Given the description of an element on the screen output the (x, y) to click on. 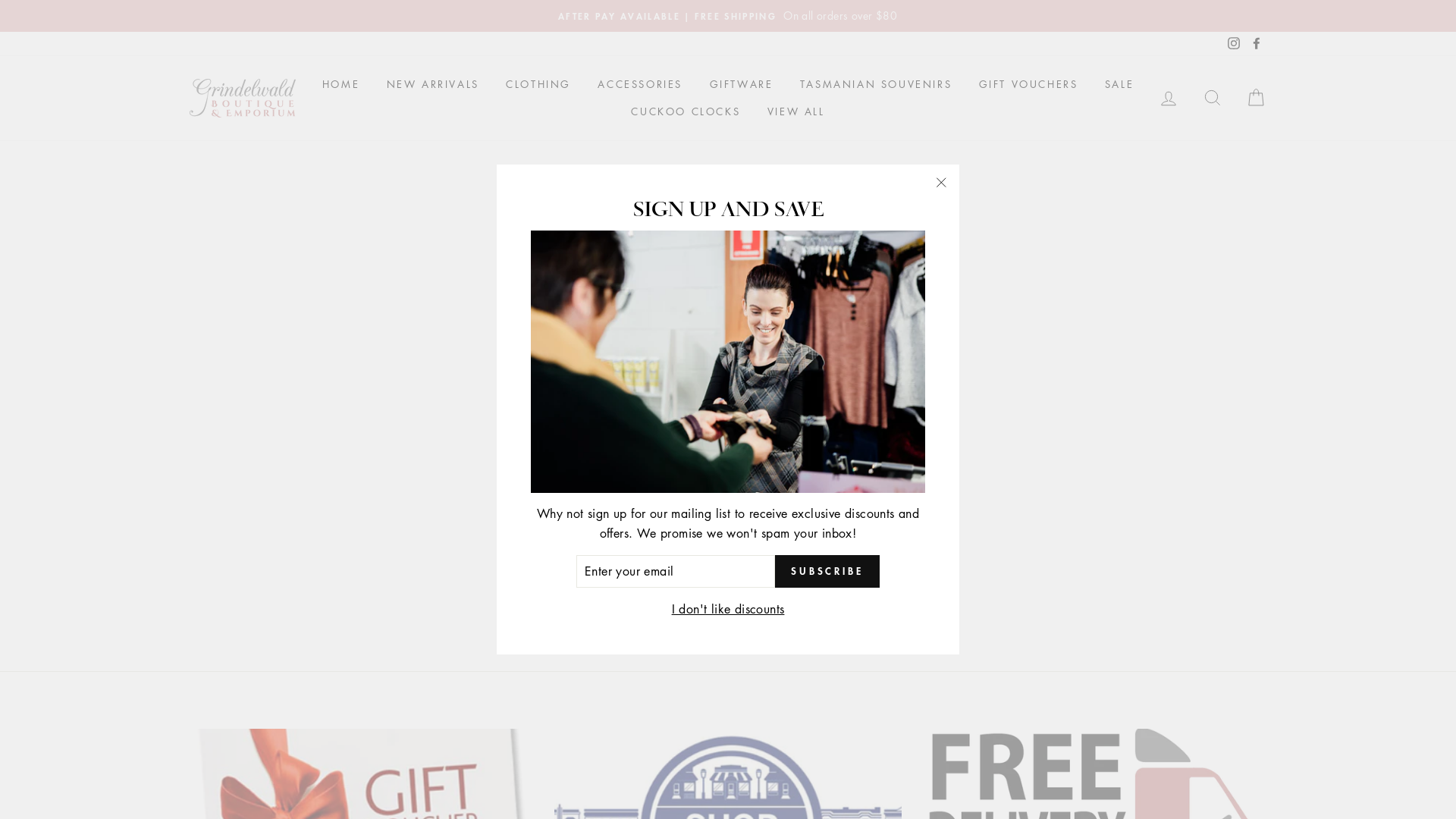
HOME Element type: text (340, 84)
SUBSCRIBE Element type: text (827, 571)
NEW ARRIVALS Element type: text (432, 84)
LOG IN Element type: text (1168, 97)
SEARCH Element type: text (1212, 97)
SALE Element type: text (1119, 84)
Facebook Element type: text (1256, 43)
ACCESSORIES Element type: text (639, 84)
GIFT VOUCHERS Element type: text (1028, 84)
GIFTWARE Element type: text (740, 84)
Continue shopping Element type: text (727, 331)
VIEW ALL Element type: text (796, 111)
Skip to content Element type: text (0, 0)
CUCKOO CLOCKS Element type: text (685, 111)
CLOTHING Element type: text (538, 84)
TASMANIAN SOUVENIRS Element type: text (875, 84)
Instagram Element type: text (1233, 43)
"Close (esc)" Element type: text (940, 182)
I don't like discounts Element type: text (728, 609)
CART Element type: text (1255, 97)
